Given the description of an element on the screen output the (x, y) to click on. 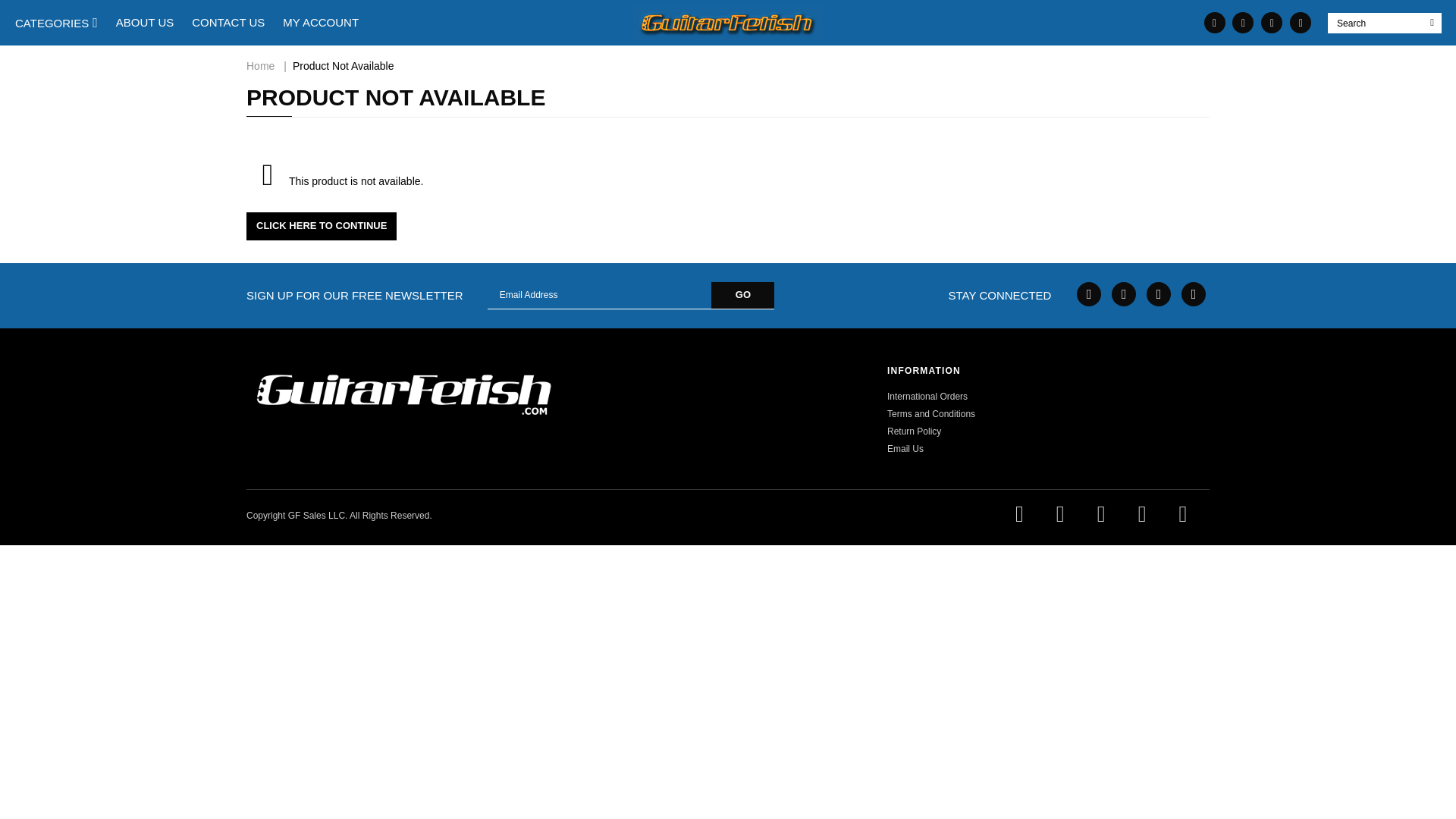
Subscribe to our Channel (1158, 293)
Follow Us on Twitter (1300, 22)
Follow Us on Twitter (1123, 293)
Like Us on Facebook (1088, 293)
Follow Us on Instagram (1192, 293)
CATEGORIES (56, 22)
Like Us on Facebook (1242, 22)
Follow Us on Instagram (1271, 22)
Click here to continue (321, 226)
Subscribe to our Channel (1214, 22)
